Given the description of an element on the screen output the (x, y) to click on. 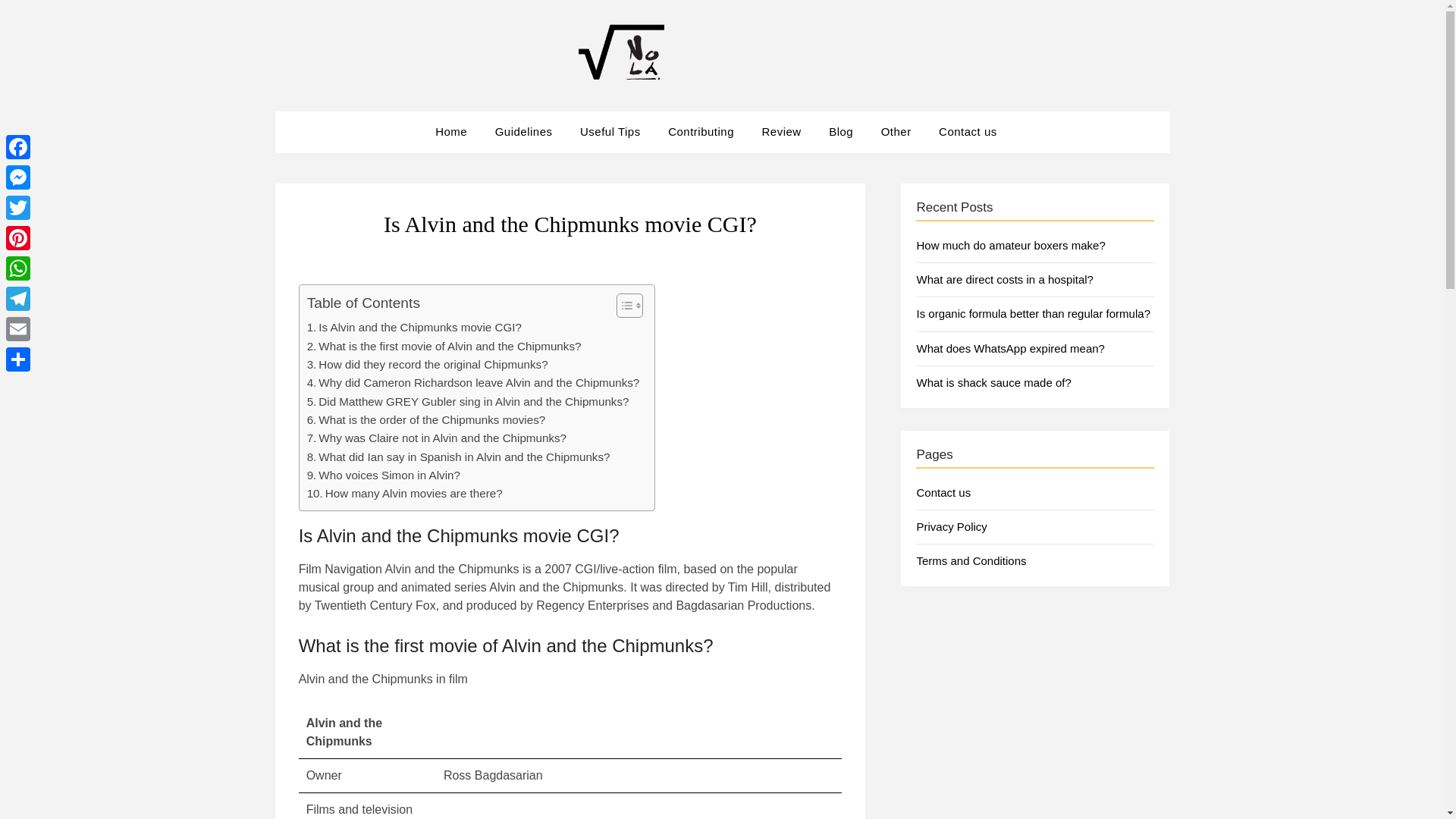
What is the order of the Chipmunks movies? (426, 420)
Facebook (17, 146)
Why was Claire not in Alvin and the Chipmunks? (436, 438)
Did Matthew GREY Gubler sing in Alvin and the Chipmunks? (467, 402)
How many Alvin movies are there? (404, 493)
Who voices Simon in Alvin? (383, 475)
What is the first movie of Alvin and the Chipmunks? (443, 346)
Contact us (967, 131)
Blog (840, 131)
Useful Tips (609, 131)
What is shack sauce made of? (992, 382)
What is the first movie of Alvin and the Chipmunks? (443, 346)
Home (457, 131)
Did Matthew GREY Gubler sing in Alvin and the Chipmunks? (467, 402)
What is the order of the Chipmunks movies? (426, 420)
